Given the description of an element on the screen output the (x, y) to click on. 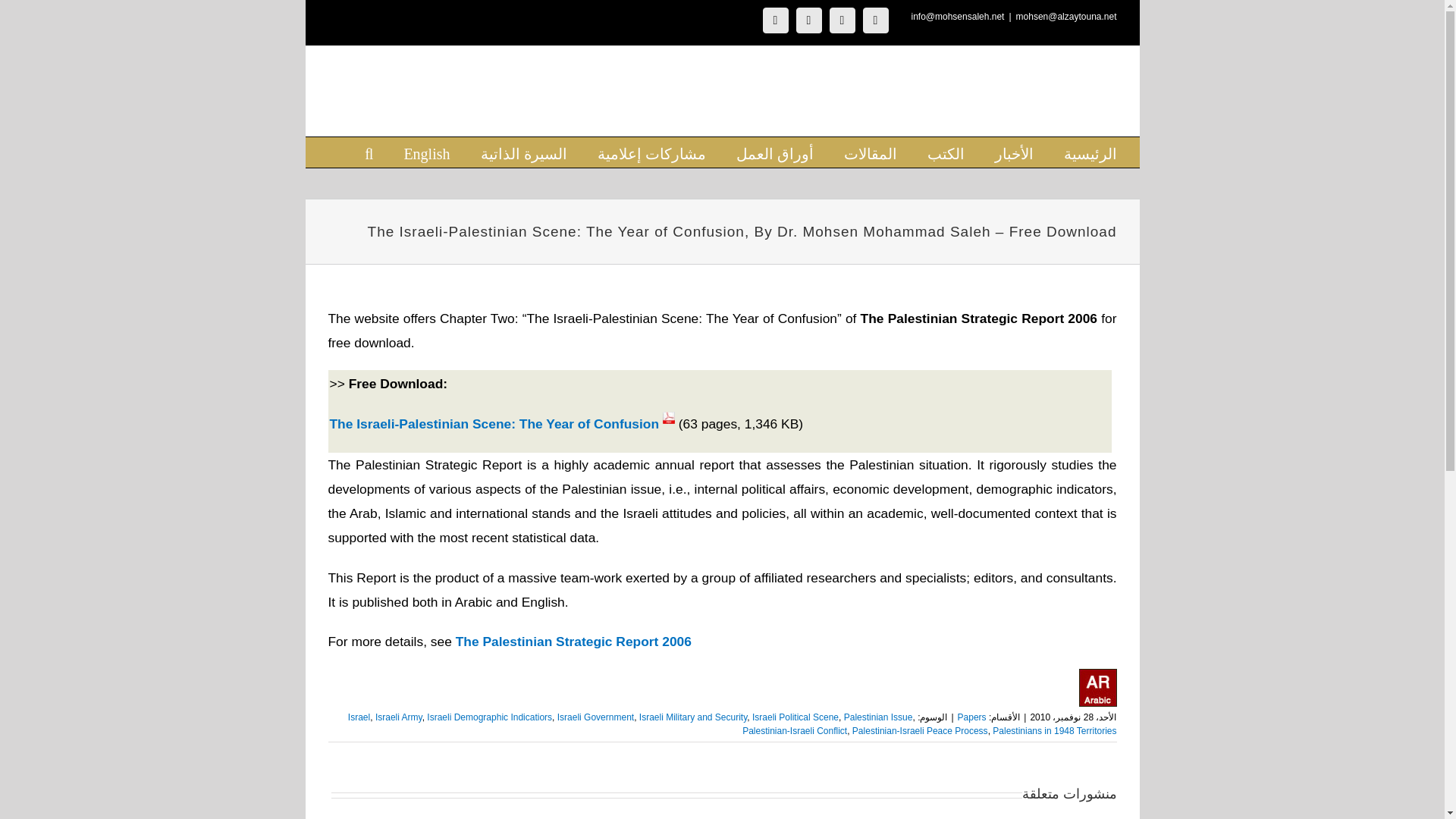
YouTube (775, 20)
Facebook (875, 20)
LinkedIn (842, 20)
X (809, 20)
English (426, 152)
